Given the description of an element on the screen output the (x, y) to click on. 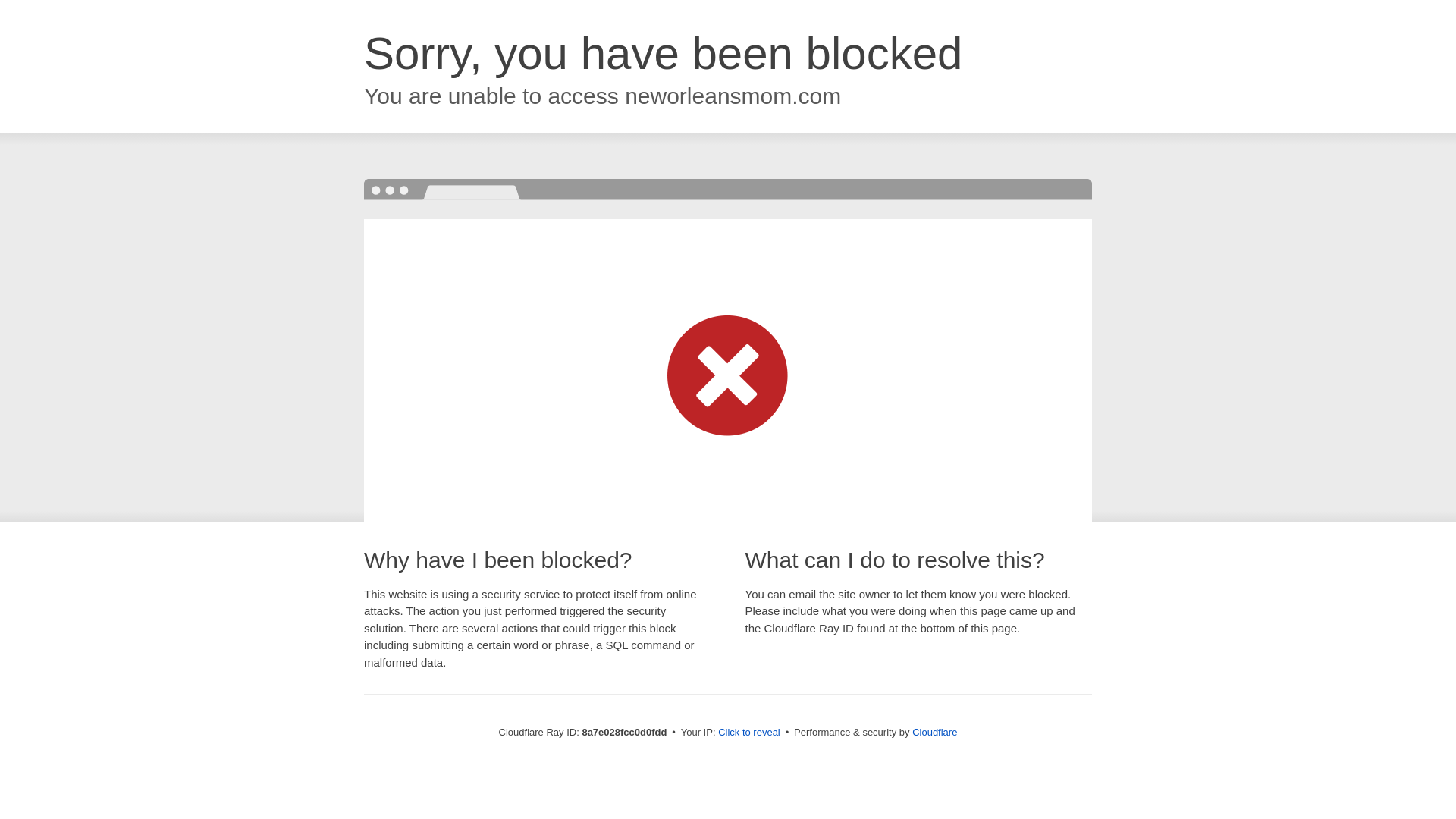
Cloudflare (934, 731)
Click to reveal (748, 732)
